Given the description of an element on the screen output the (x, y) to click on. 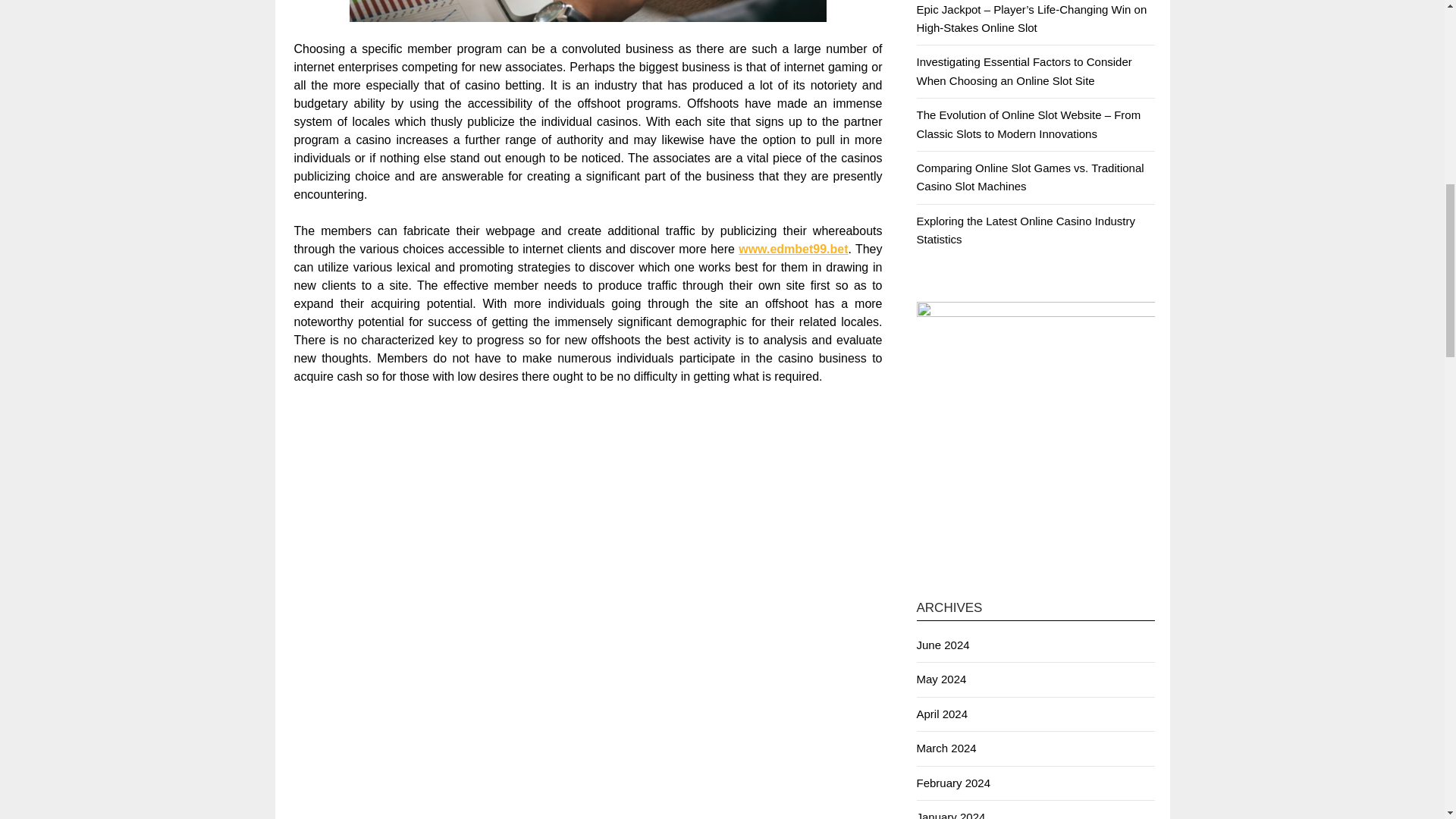
January 2024 (950, 814)
April 2024 (941, 713)
June 2024 (942, 644)
May 2024 (940, 678)
www.edmbet99.bet (792, 248)
March 2024 (945, 748)
February 2024 (952, 782)
Exploring the Latest Online Casino Industry Statistics (1025, 229)
